Given the description of an element on the screen output the (x, y) to click on. 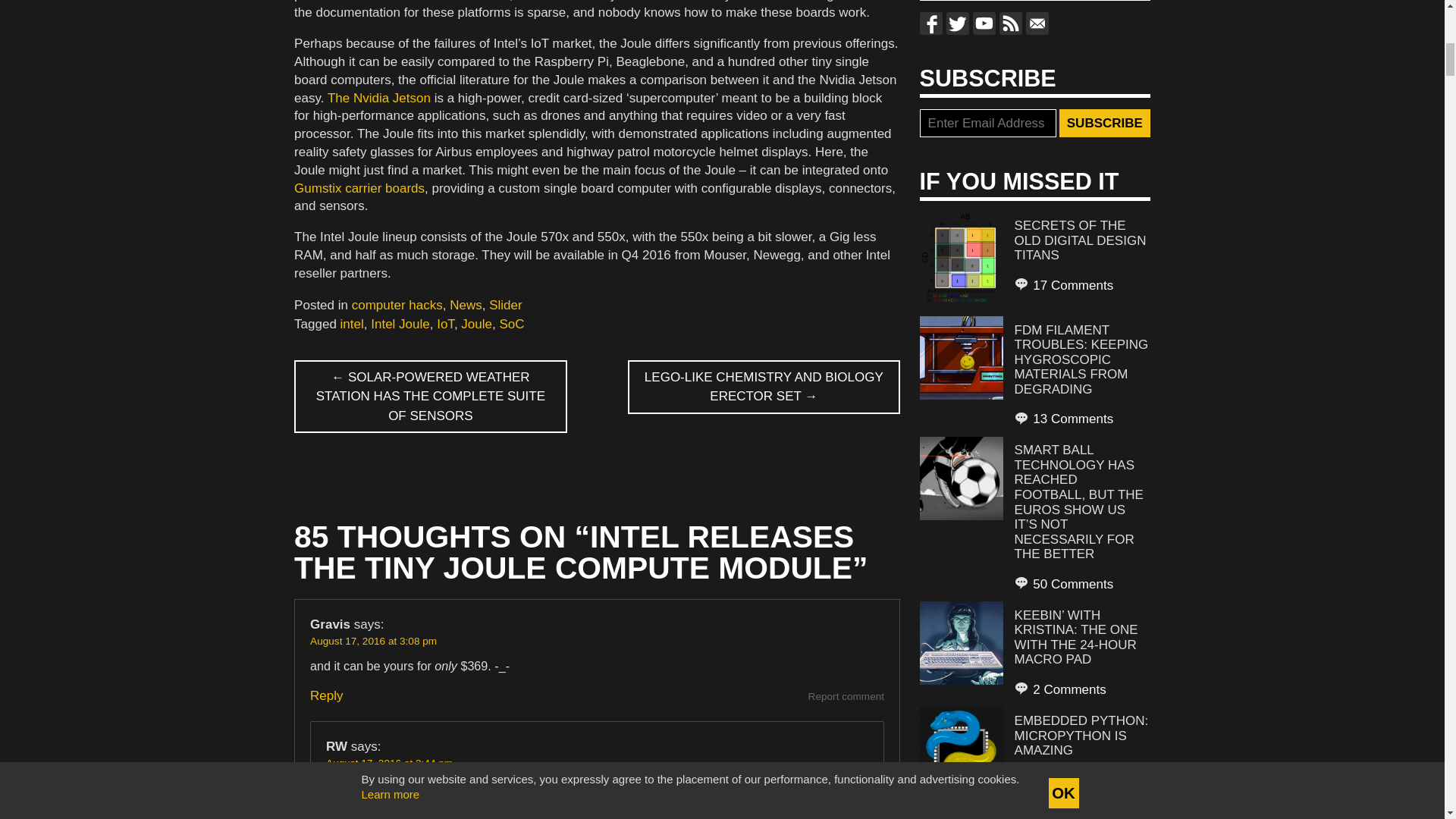
Subscribe (1104, 123)
Gumstix carrier boards (359, 187)
computer hacks (397, 305)
News (465, 305)
The Nvidia Jetson (378, 97)
Slider (505, 305)
IoT (445, 323)
intel (352, 323)
Intel Joule (400, 323)
